Given the description of an element on the screen output the (x, y) to click on. 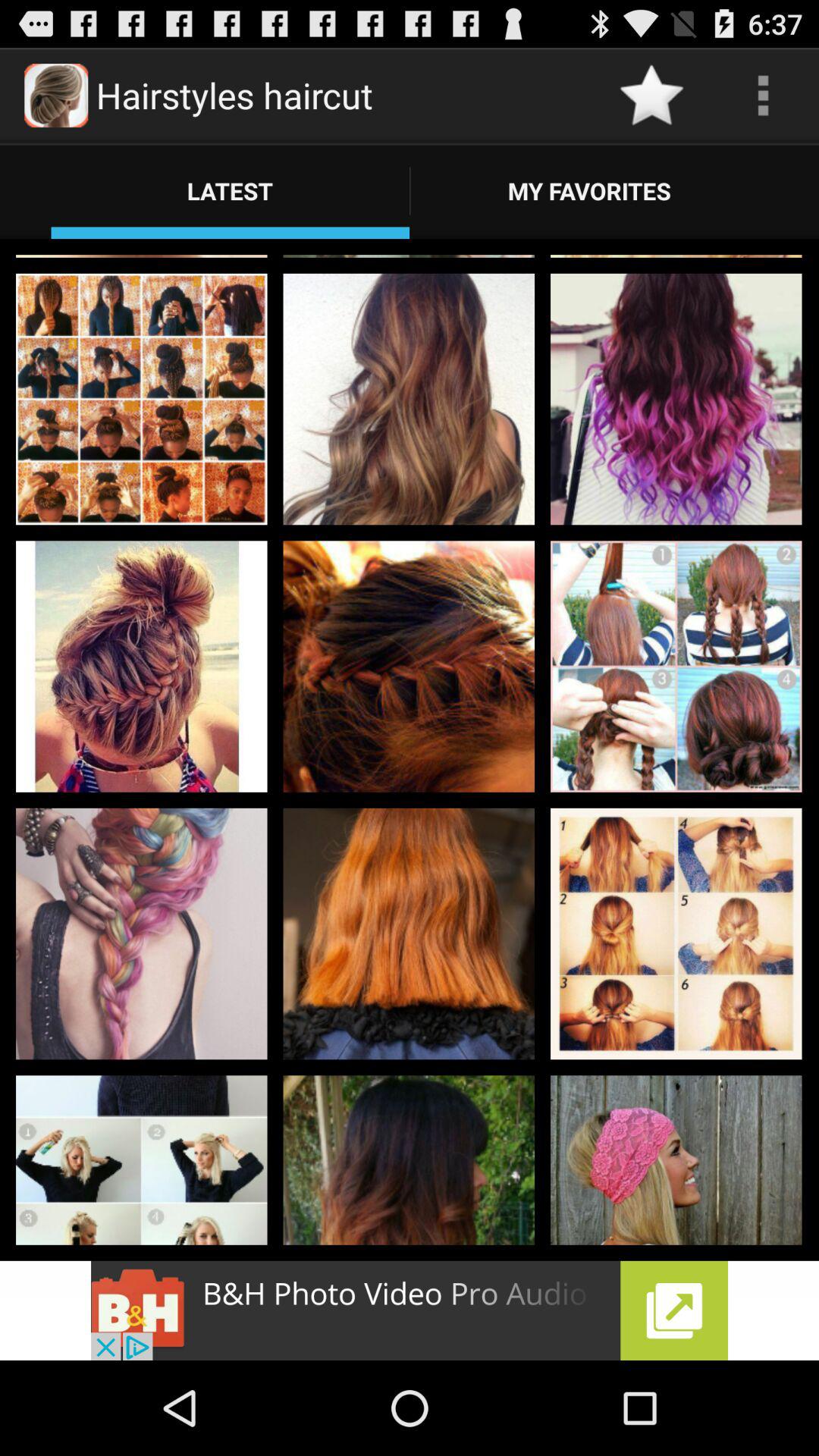
open advertisement (409, 1310)
